Given the description of an element on the screen output the (x, y) to click on. 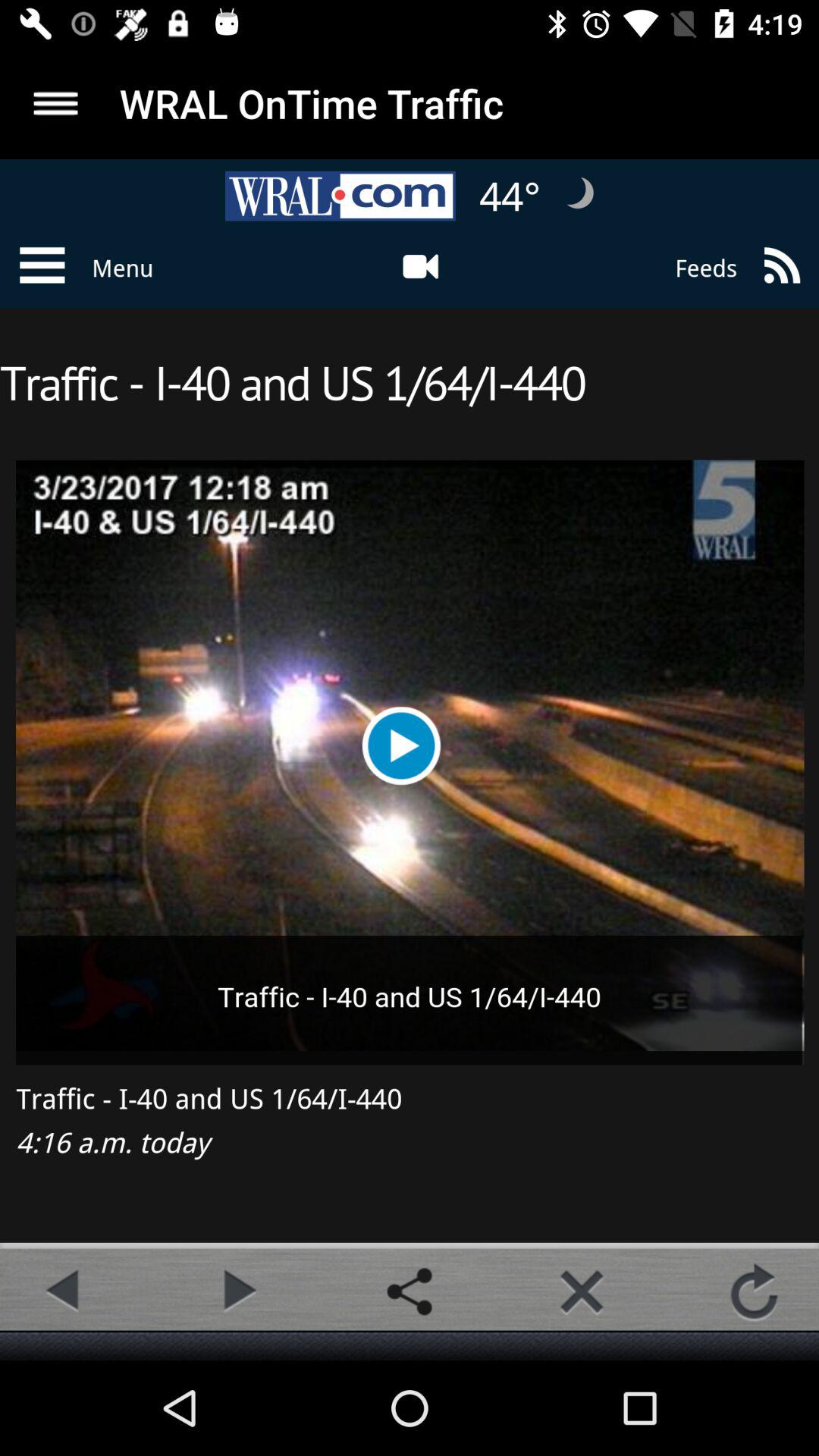
go to previous (64, 1291)
